Given the description of an element on the screen output the (x, y) to click on. 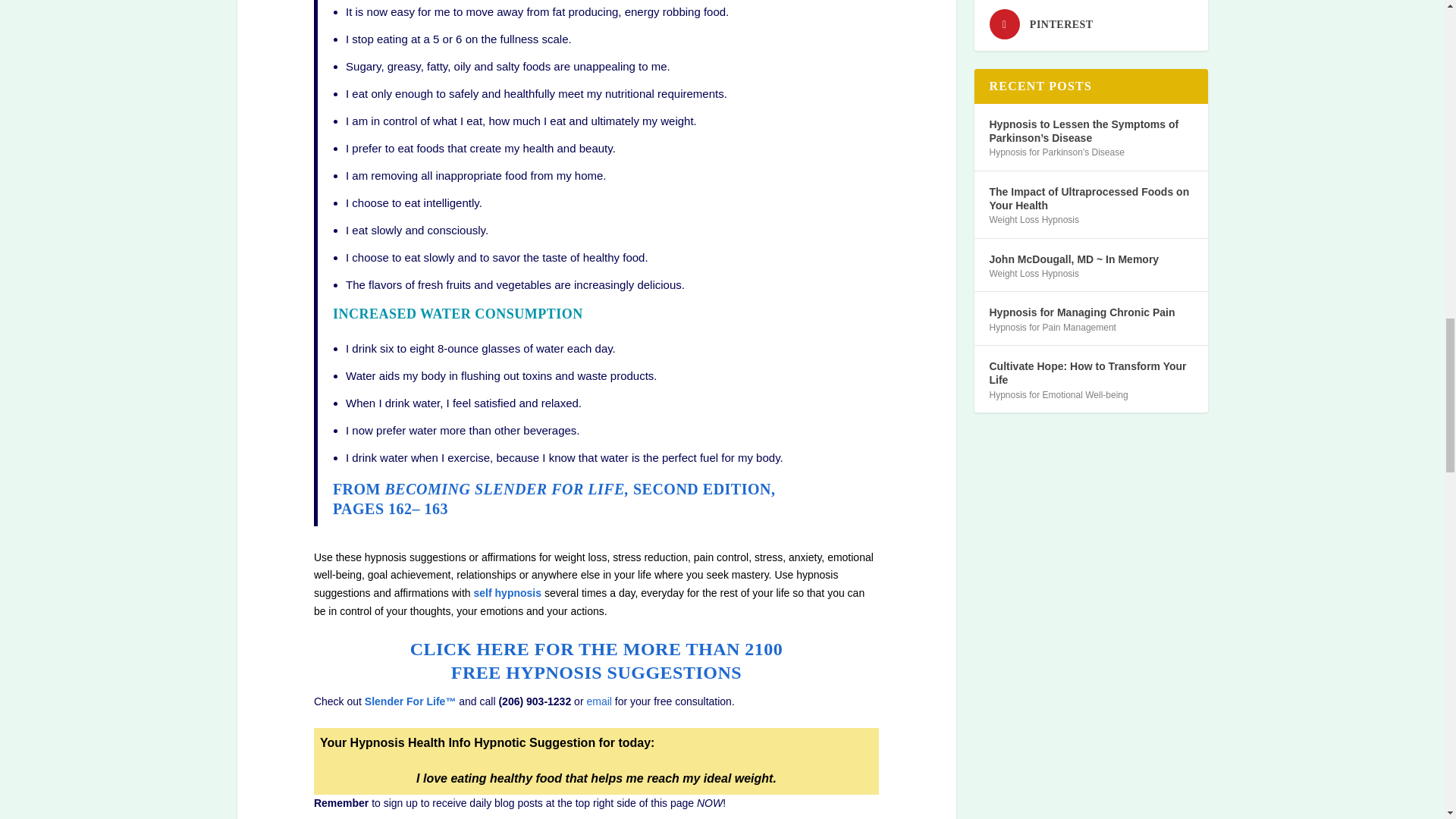
Becoming Slender For Life (554, 498)
Hypnosis Suggestions (596, 672)
Slender For Life (411, 701)
Hypnosis Suggestions (596, 649)
Light Switch self hypnosis (507, 592)
